Given the description of an element on the screen output the (x, y) to click on. 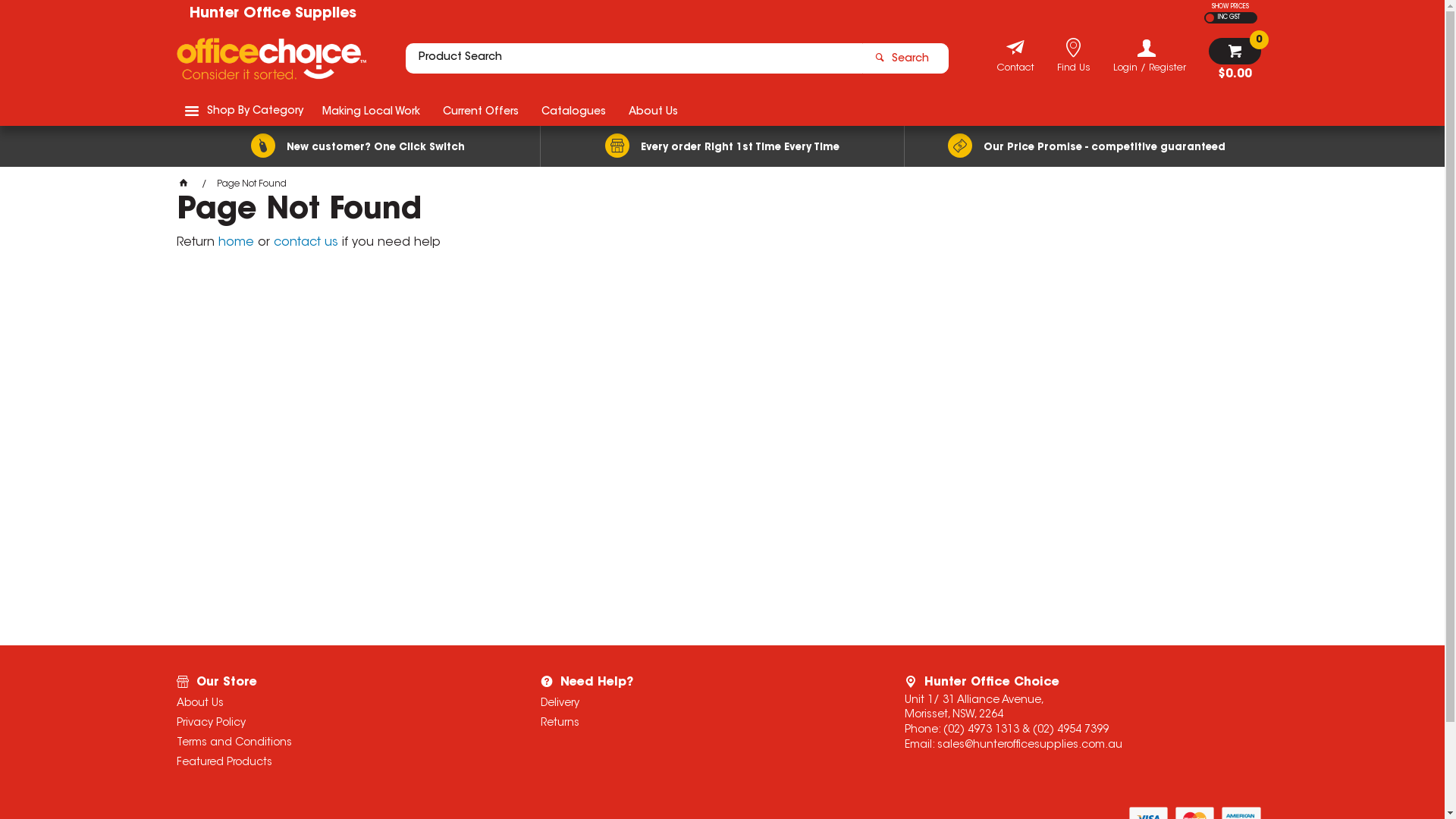
Contact Element type: text (1014, 69)
$0.00
0 Element type: text (1234, 59)
About Us Element type: text (653, 110)
(02) 4973 1313 & (02) 4954 7399 Element type: text (1025, 729)
Featured Products Element type: text (337, 762)
Search Element type: text (904, 58)
Our Price Promise - competitive guaranteed Element type: text (1085, 145)
INC GST Element type: text (1226, 17)
Catalogues Element type: text (572, 110)
Login / Register Element type: text (1149, 55)
Every order Right 1st Time Every Time Element type: text (721, 145)
Returns Element type: text (701, 723)
Terms and Conditions Element type: text (337, 743)
Making Local Work Element type: text (370, 110)
Delivery Element type: text (701, 703)
About Us Element type: text (337, 703)
EX GST Element type: text (1209, 17)
home Element type: text (236, 242)
New customer? One Click Switch Element type: text (357, 145)
Find Us Element type: text (1073, 69)
sales@hunterofficesupplies.com.au Element type: text (1029, 745)
Current Offers Element type: text (479, 110)
contact us Element type: text (305, 242)
Privacy Policy Element type: text (337, 723)
